Given the description of an element on the screen output the (x, y) to click on. 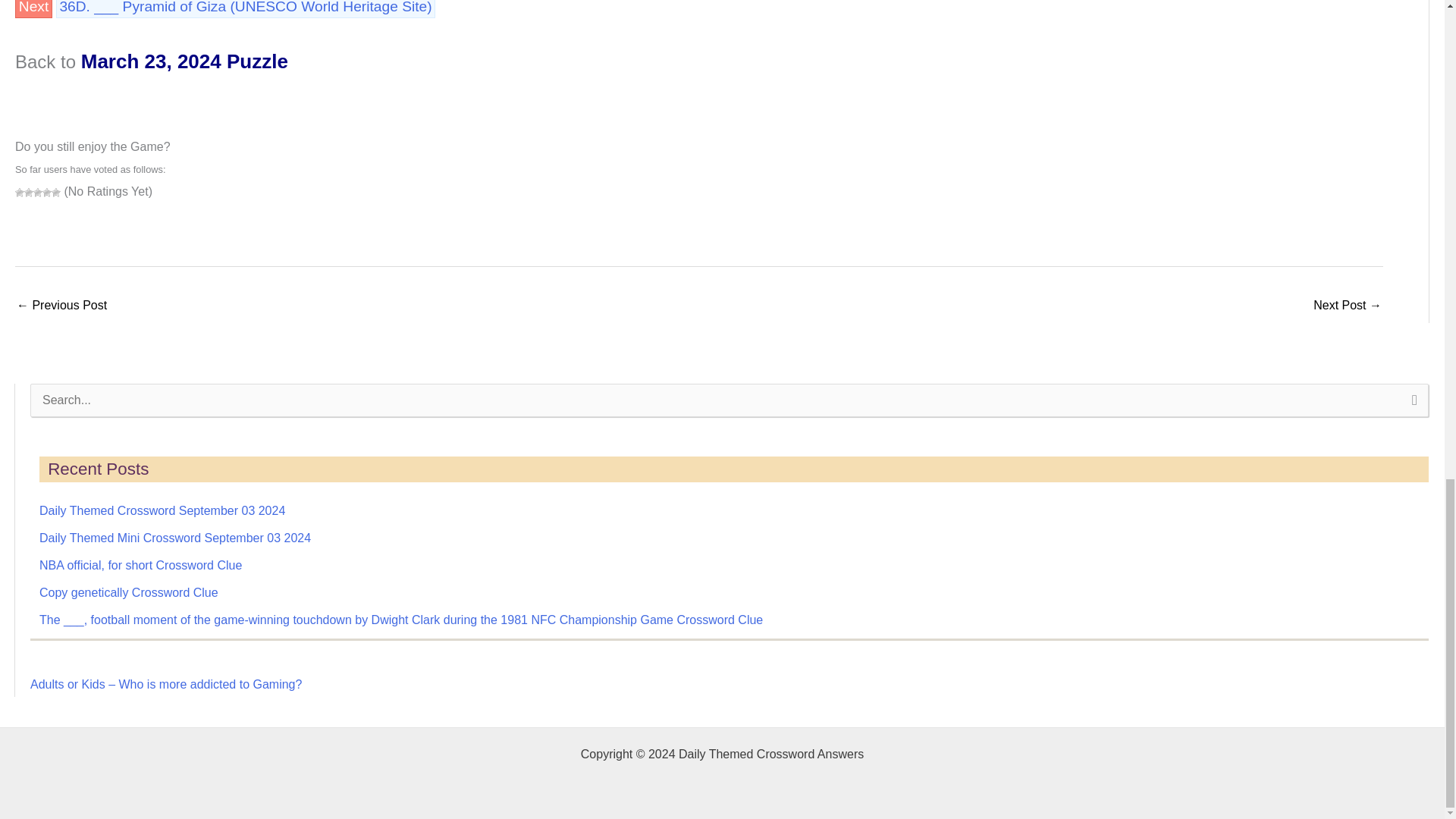
Daily Themed Crossword September 03 2024 (162, 510)
2 Stars (28, 192)
1 Star (19, 192)
Daily Themed Mini Crossword September 03 2024 (175, 537)
Football's Buddy? Crossword Clue (61, 306)
Copy genetically Crossword Clue (128, 592)
NBA official, for short Crossword Clue (140, 564)
4 Stars (46, 192)
March 23, 2024 Puzzle (184, 60)
3 Stars (37, 192)
